Given the description of an element on the screen output the (x, y) to click on. 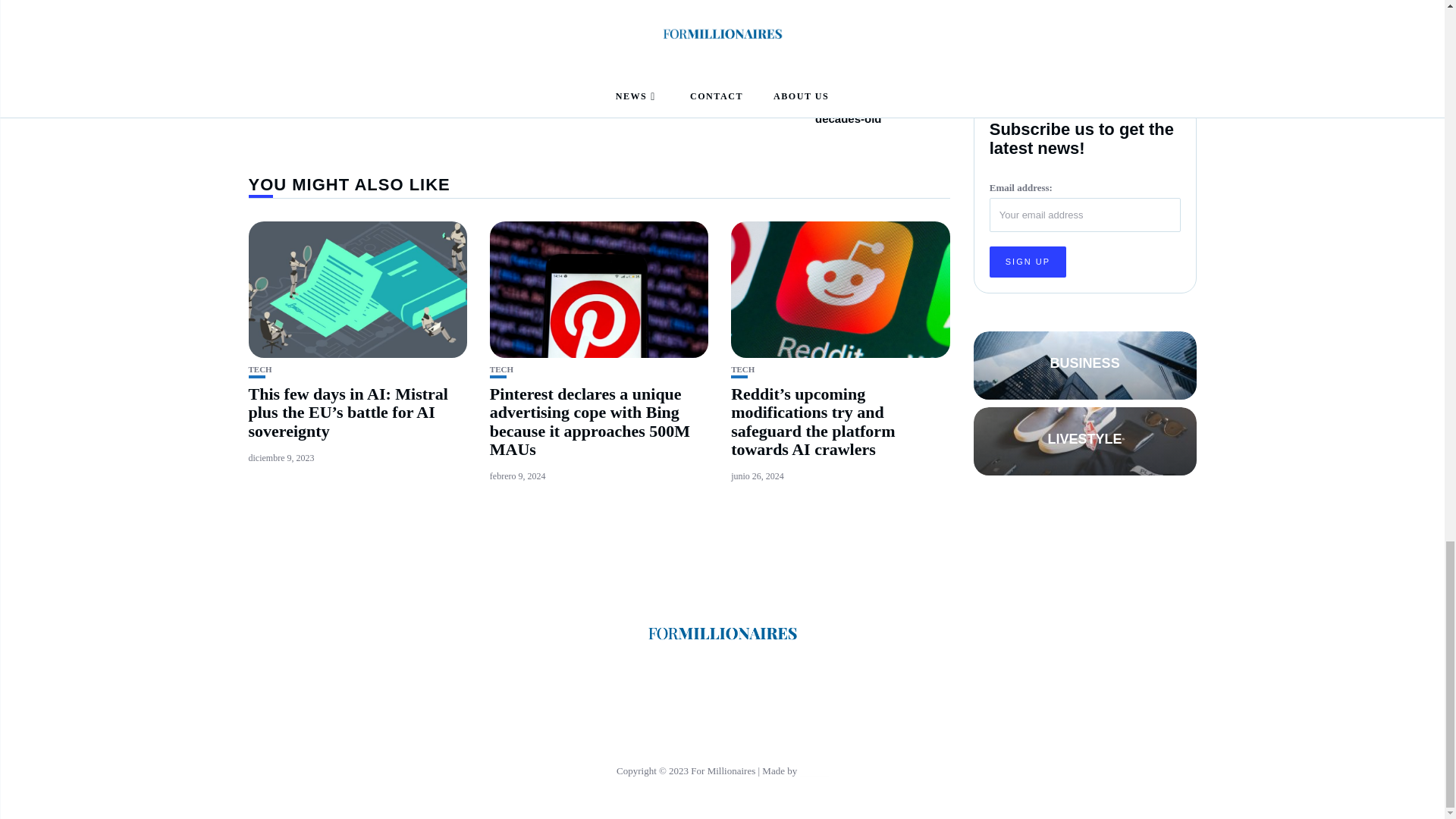
TECH (501, 369)
TECH (260, 369)
TECH (742, 369)
Sign up (1027, 2)
